Given the description of an element on the screen output the (x, y) to click on. 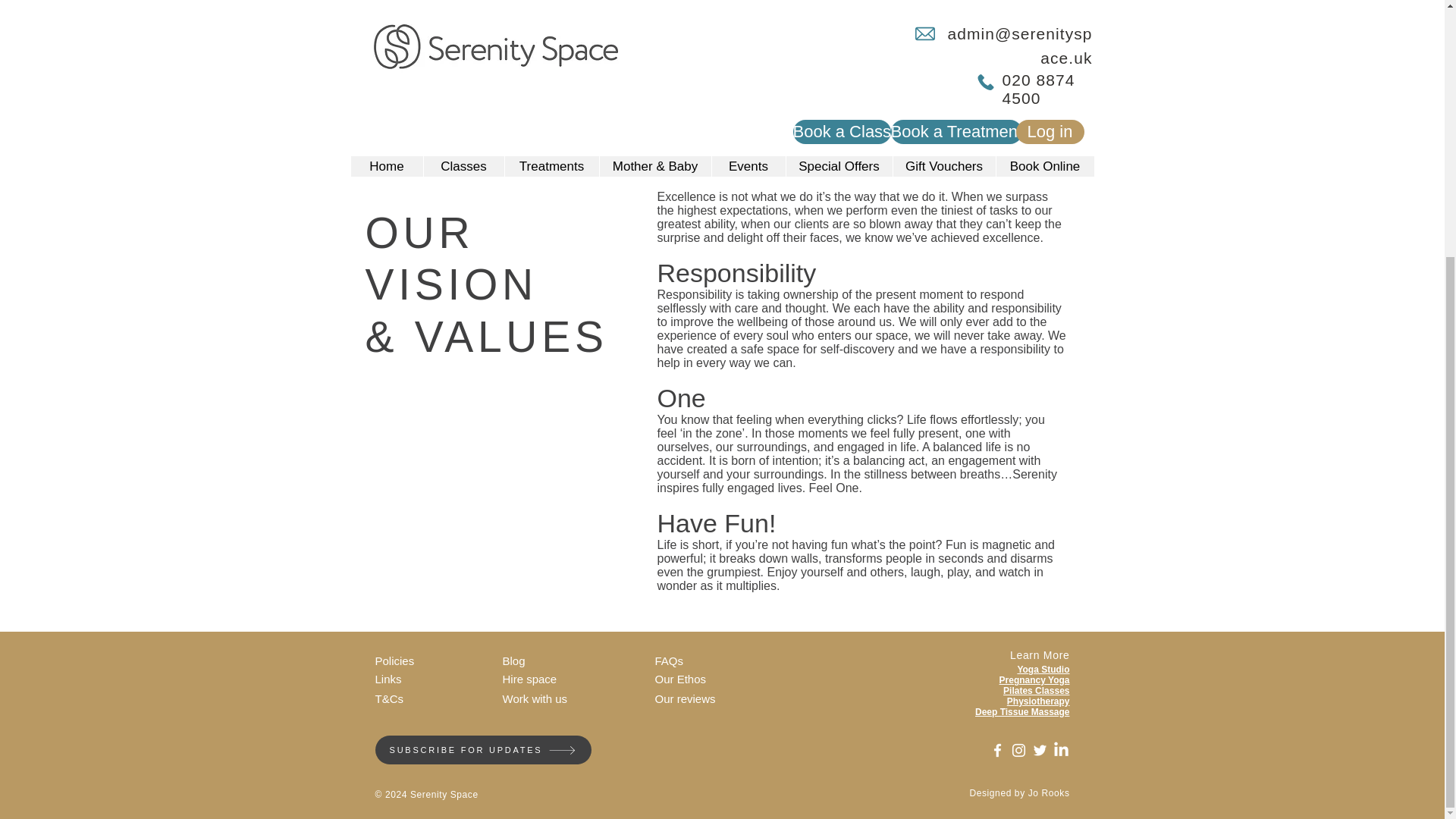
Blog (565, 660)
Hire space (565, 679)
Work with us (565, 698)
Policies (407, 660)
Links (395, 679)
